Given the description of an element on the screen output the (x, y) to click on. 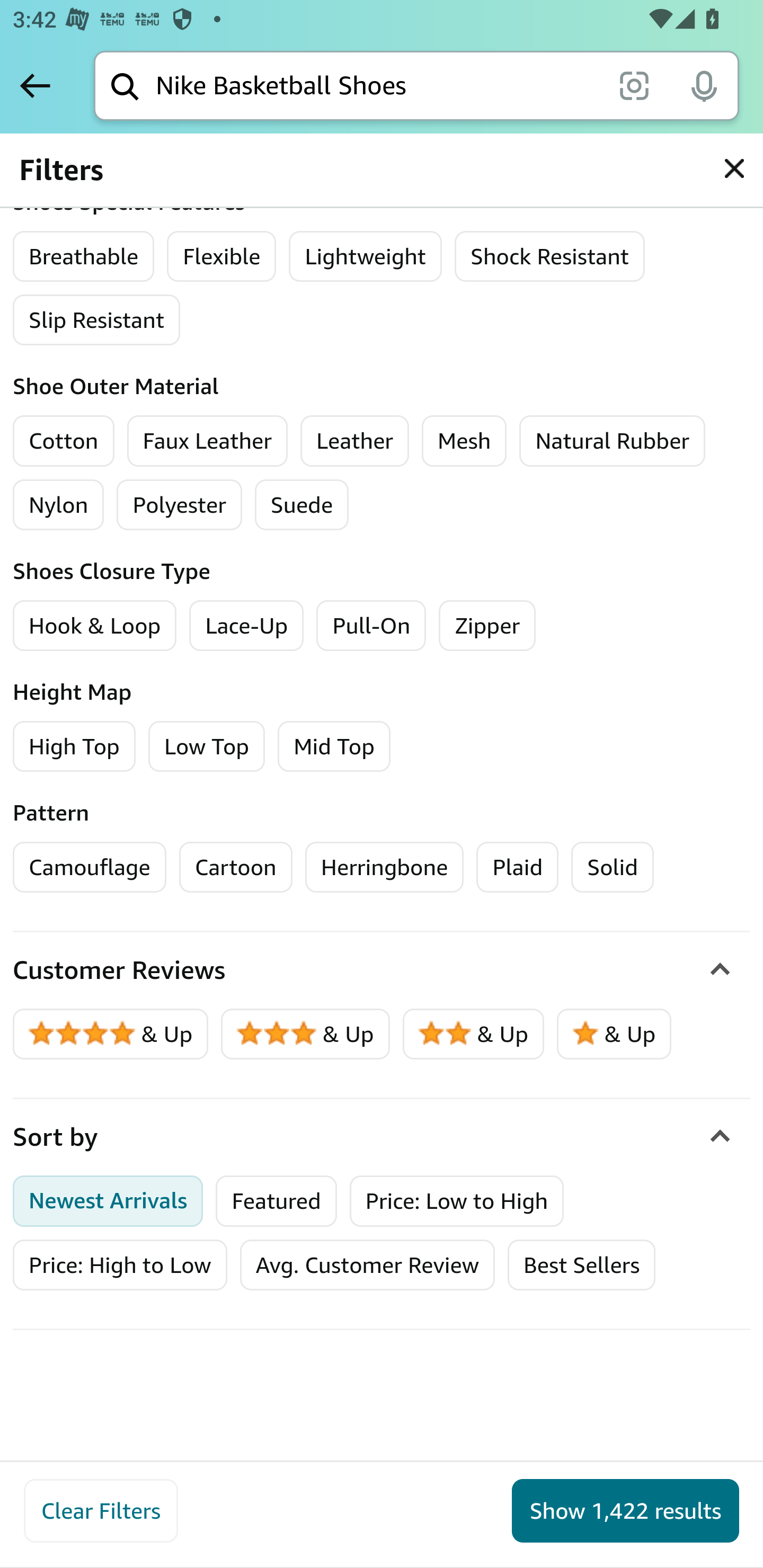
Back (35, 85)
scan it (633, 85)
Breathable (83, 256)
Flexible (221, 256)
Lightweight (364, 256)
Shock Resistant (549, 256)
Slip Resistant (96, 320)
Cotton (63, 441)
Faux Leather (206, 441)
Leather (355, 441)
Mesh (464, 441)
Natural Rubber (611, 441)
Nylon (58, 504)
Polyester (179, 504)
Suede (301, 504)
Hook & Loop (94, 625)
Lace-Up (247, 625)
